Given the description of an element on the screen output the (x, y) to click on. 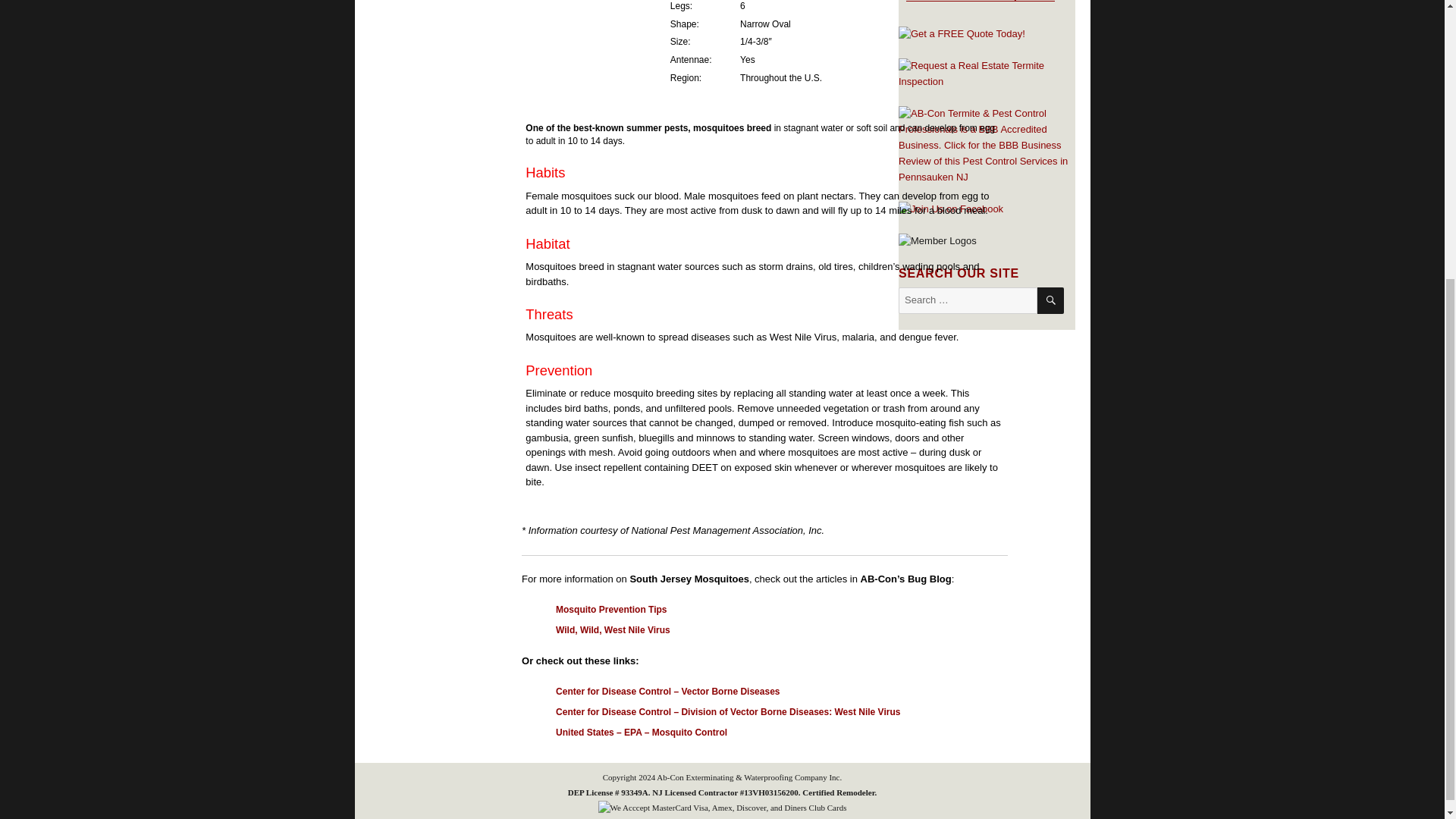
Wild, Wild, West Nile Virus (612, 629)
Mosquito Prevention Tips (611, 609)
SEARCH (1050, 300)
